Given the description of an element on the screen output the (x, y) to click on. 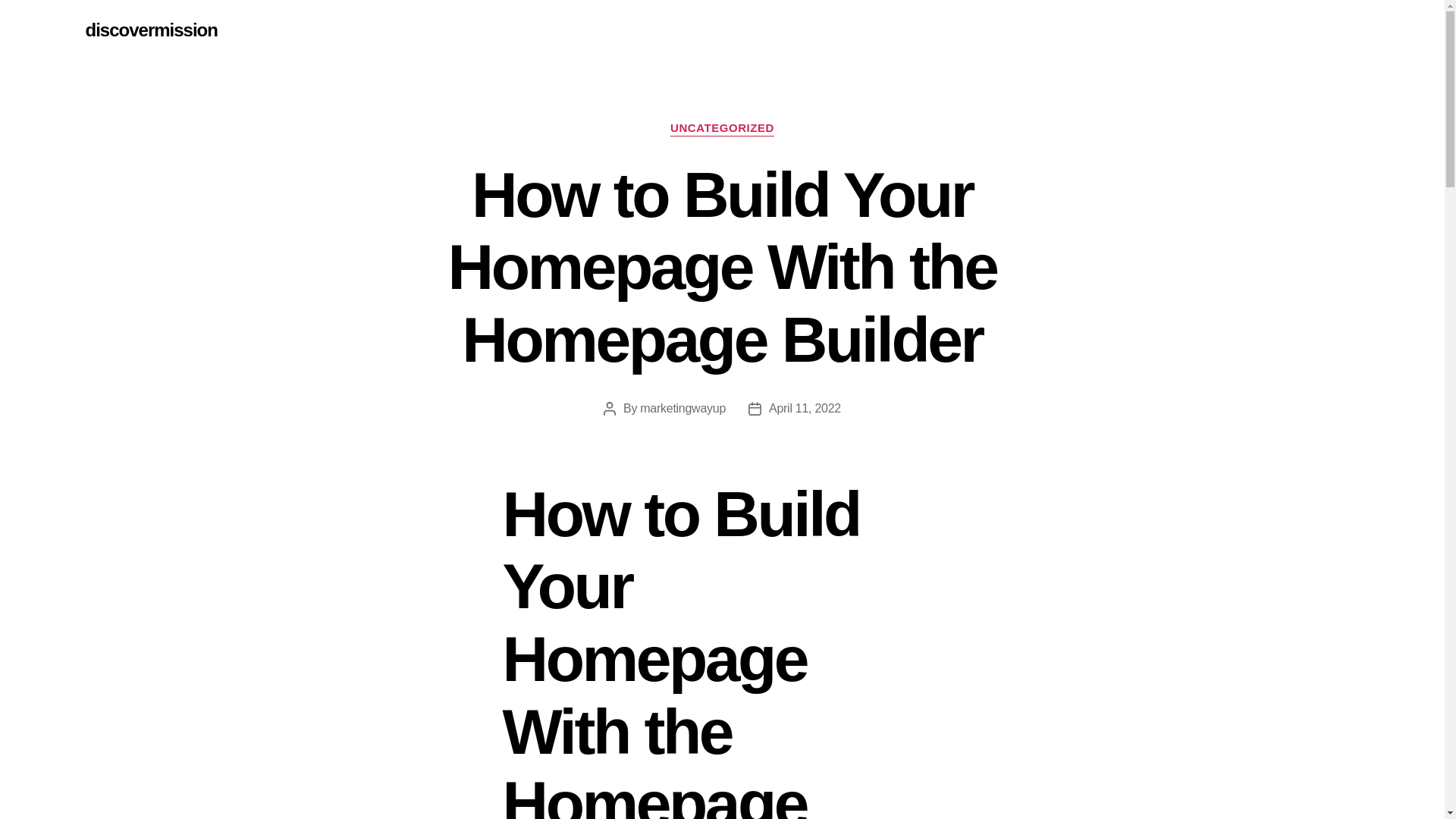
UNCATEGORIZED (721, 128)
April 11, 2022 (804, 408)
discovermission (150, 30)
marketingwayup (682, 408)
